Given the description of an element on the screen output the (x, y) to click on. 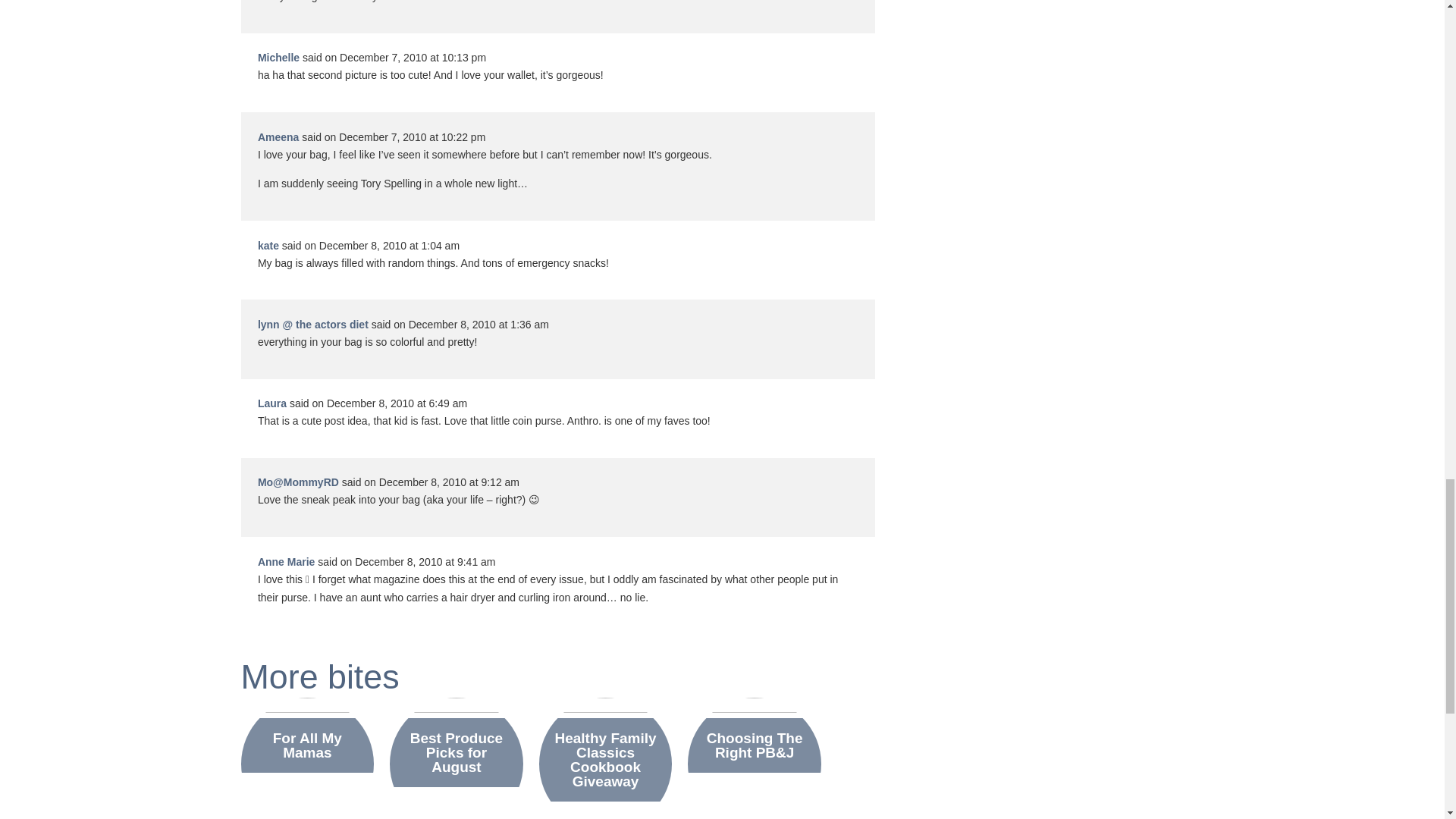
Best Produce Picks for August (457, 752)
Laura (271, 403)
Healthy Family Classics Cookbook Giveaway (605, 759)
Anne Marie (285, 562)
kate (268, 245)
Michelle (278, 57)
For All My Mamas (307, 745)
Ameena (277, 137)
